Given the description of an element on the screen output the (x, y) to click on. 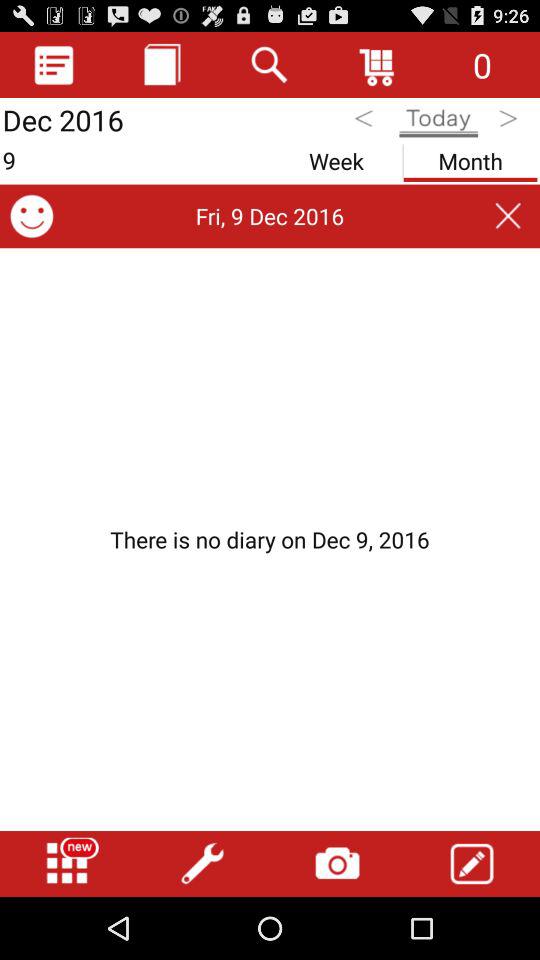
turn off icon next to dec 2016 icon (161, 64)
